Given the description of an element on the screen output the (x, y) to click on. 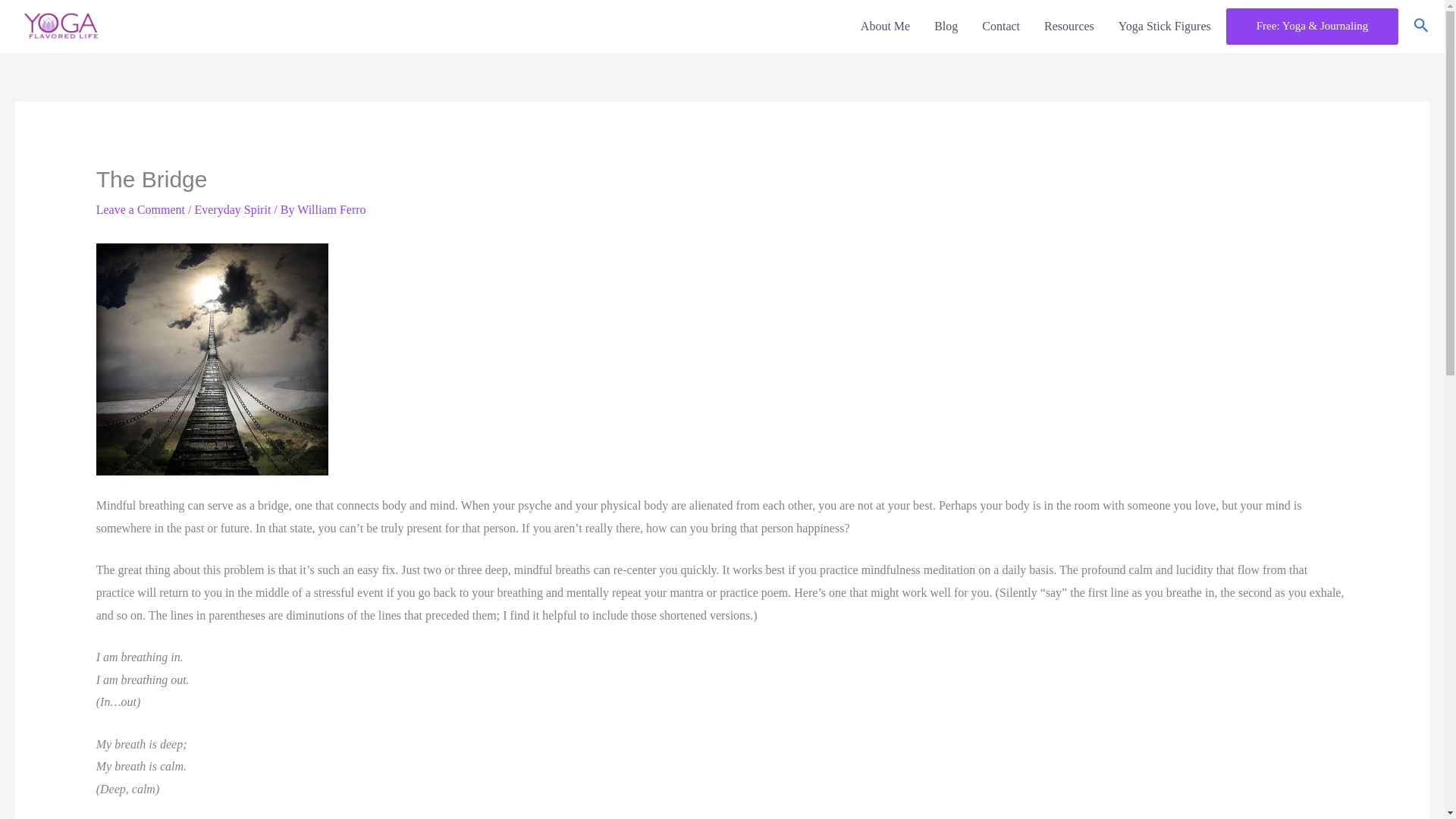
Resources (1069, 26)
William Ferro (331, 209)
Everyday Spirit (231, 209)
Yoga Stick Figures (1158, 26)
Contact (1000, 26)
View all posts by William Ferro (331, 209)
About Me (884, 26)
Blog (945, 26)
Leave a Comment (140, 209)
